Given the description of an element on the screen output the (x, y) to click on. 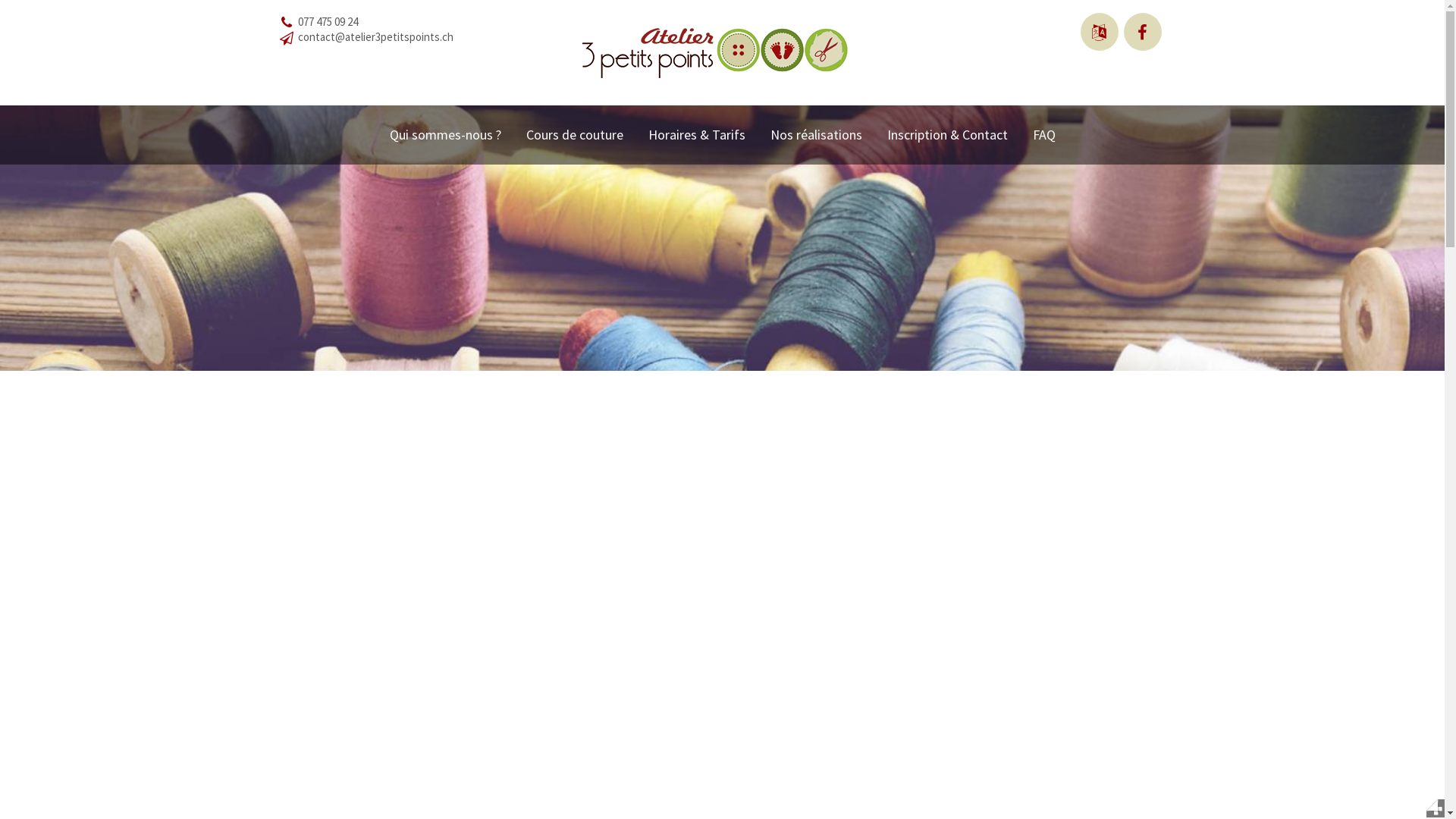
Inscription & Contact Element type: text (947, 134)
FAQ Element type: text (1043, 134)
Horaires & Tarifs Element type: text (695, 134)
Cours de couture Element type: text (574, 134)
contact@atelier3petitspoints.ch Element type: text (374, 36)
Qui sommes-nous ? Element type: text (445, 134)
